Given the description of an element on the screen output the (x, y) to click on. 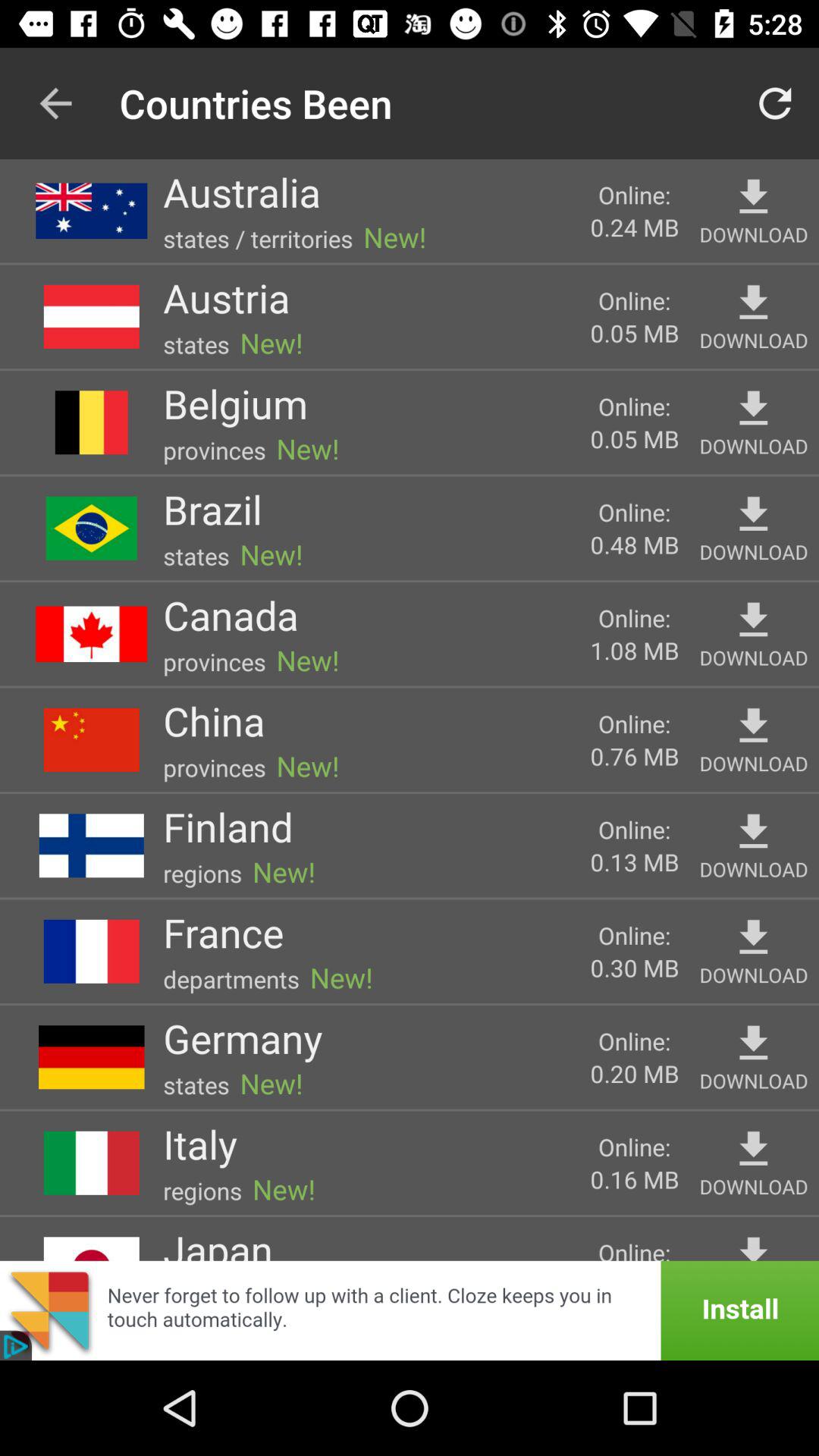
download the map (753, 831)
